Given the description of an element on the screen output the (x, y) to click on. 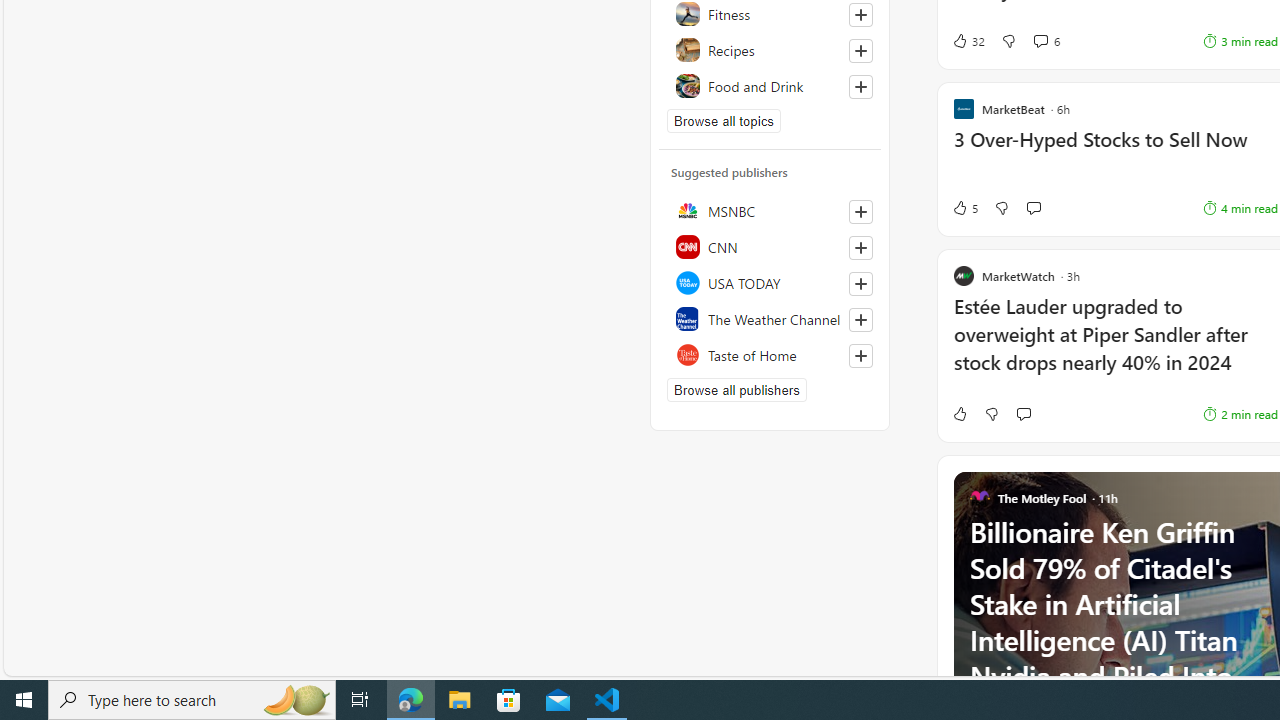
Start the conversation (1023, 413)
Taste of Home (770, 354)
Follow this source (860, 355)
Start the conversation (1023, 414)
Follow this topic (860, 86)
Food and Drink (770, 85)
USA TODAY (770, 282)
Like (959, 413)
Follow this topic (860, 86)
Browse all publishers (736, 389)
View comments 6 Comment (1045, 40)
Follow this source (860, 355)
